Given the description of an element on the screen output the (x, y) to click on. 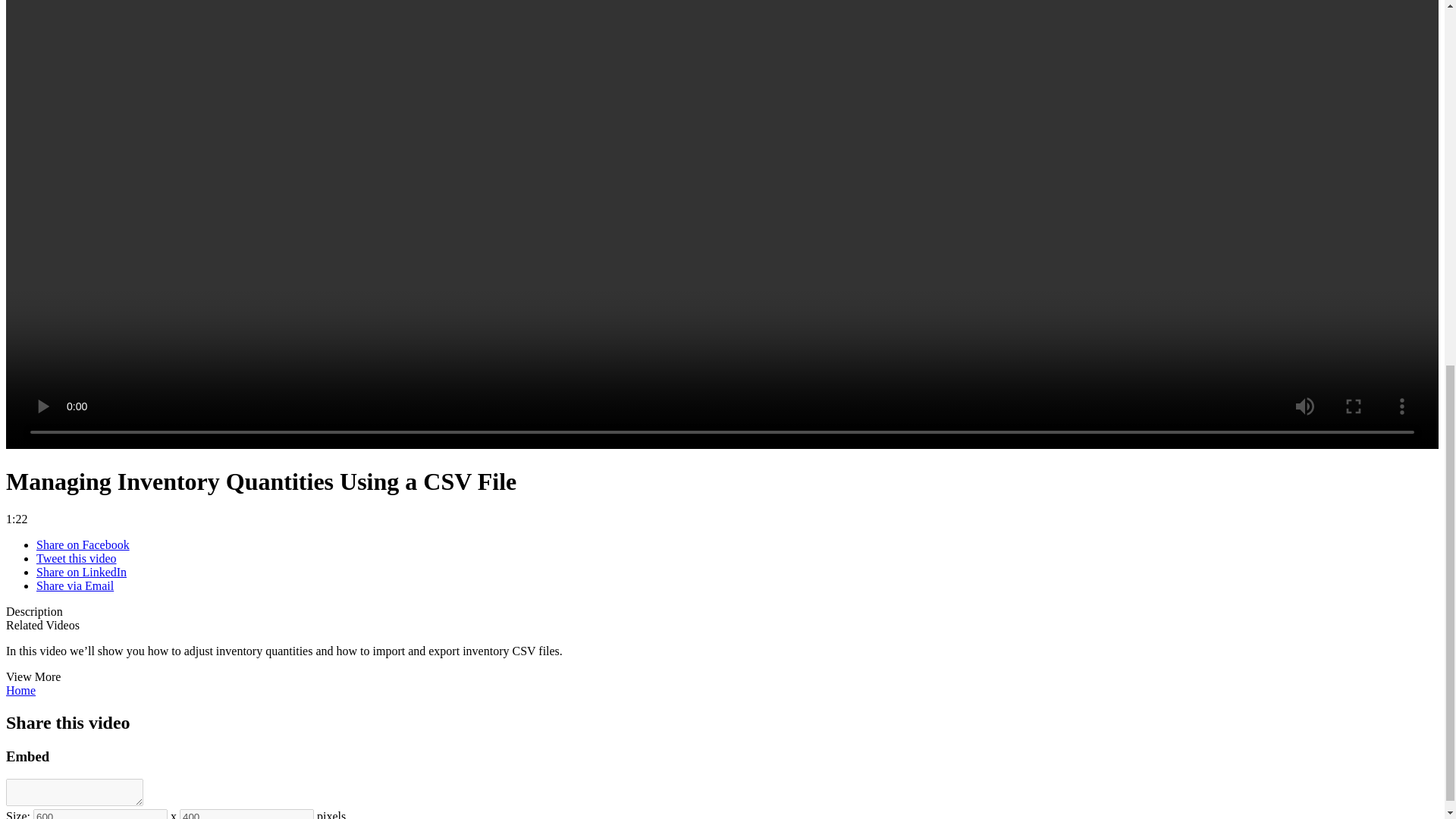
Share via Email (74, 585)
Share on Facebook (82, 544)
Tweet this video (76, 558)
Share on LinkedIn (81, 571)
Home (19, 689)
